Given the description of an element on the screen output the (x, y) to click on. 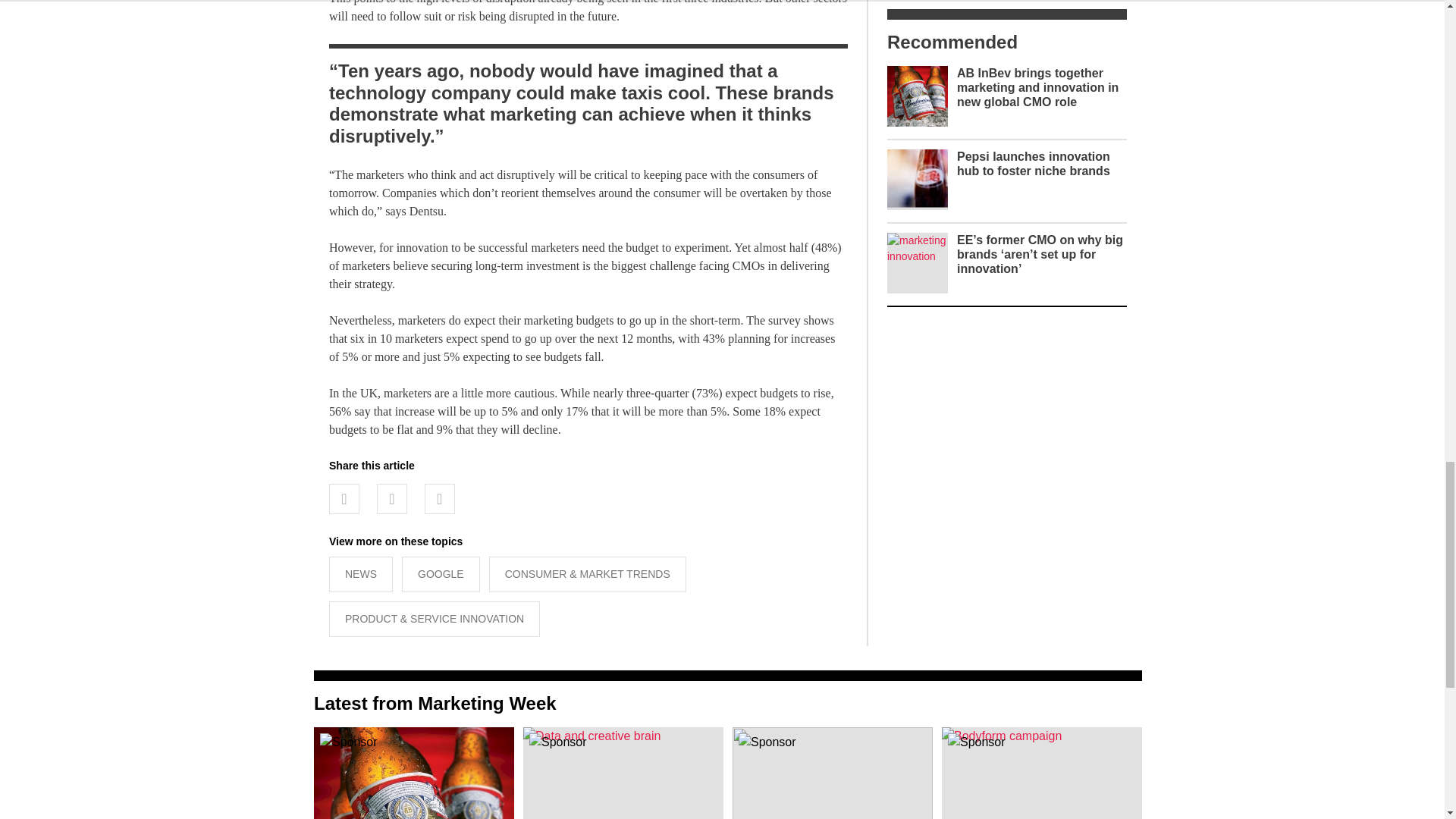
GOOGLE (440, 574)
NEWS (361, 574)
